Given the description of an element on the screen output the (x, y) to click on. 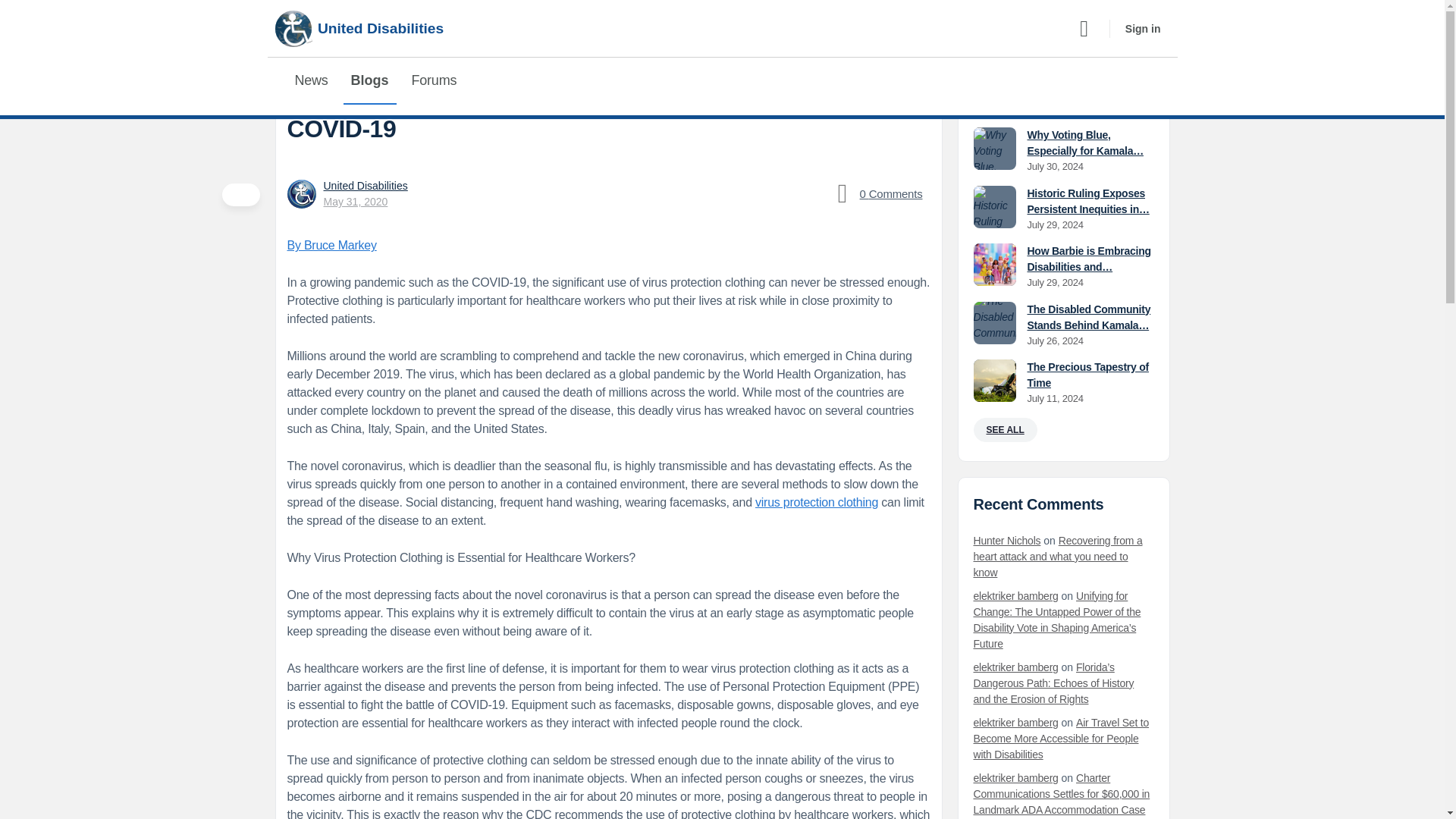
Blogs (369, 80)
News (310, 80)
United Disabilities (365, 185)
By Bruce Markey (330, 245)
Sign in (1143, 27)
Forums (434, 80)
United Disabilities (359, 28)
0 Comments (876, 194)
virus protection clothing (816, 502)
May 31, 2020 (355, 201)
